Given the description of an element on the screen output the (x, y) to click on. 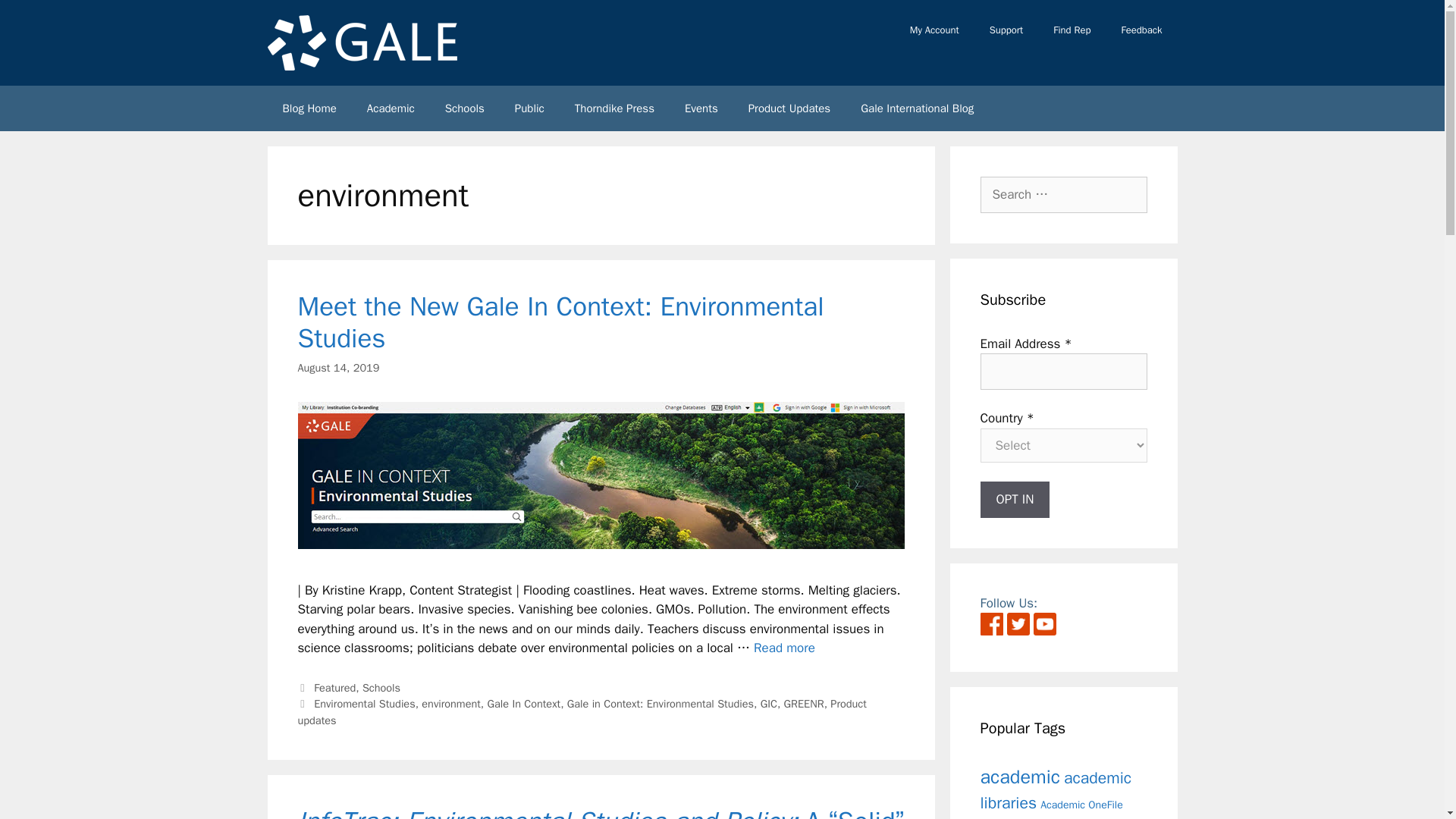
Product Updates (789, 108)
Product updates (581, 711)
My Account (934, 30)
Gale International Blog (916, 108)
Gale In Context (523, 703)
Search for: (1063, 194)
OPT IN (1014, 499)
Schools (381, 687)
Academic (390, 108)
Thorndike Press (614, 108)
GREENR (804, 703)
Support (1006, 30)
Blog Home (308, 108)
Schools (464, 108)
Feedback (1140, 30)
